Given the description of an element on the screen output the (x, y) to click on. 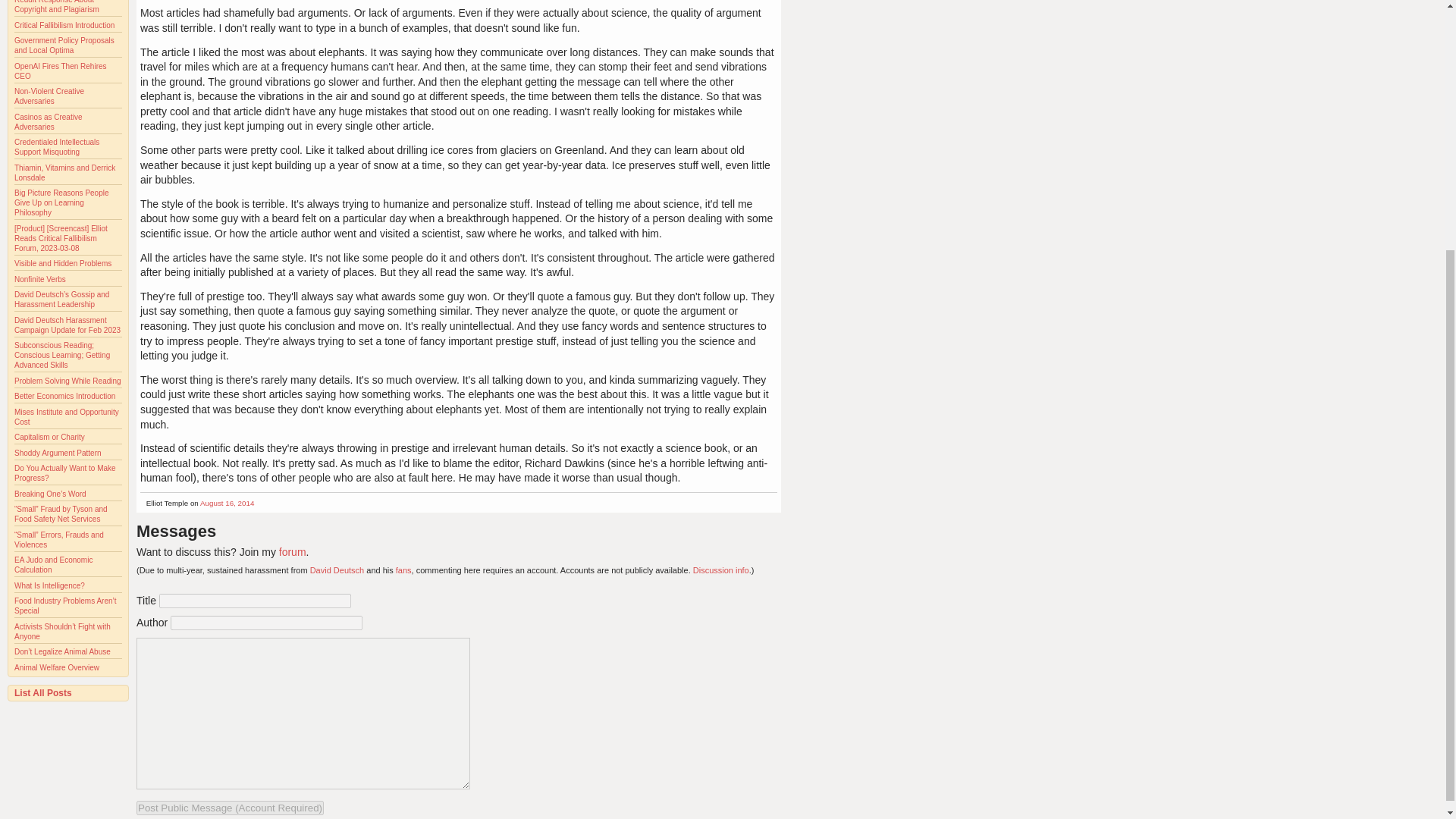
Shoddy Argument Pattern (57, 452)
Casinos as Creative Adversaries (47, 122)
Do You Actually Want to Make Progress? (65, 473)
Credentialed Intellectuals Support Misquoting (56, 147)
What Is Intelligence? (49, 585)
Better Economics Introduction (64, 396)
Capitalism or Charity (49, 437)
Nonfinite Verbs (39, 279)
Problem Solving While Reading (67, 380)
Thiamin, Vitamins and Derrick Lonsdale (64, 172)
